Given the description of an element on the screen output the (x, y) to click on. 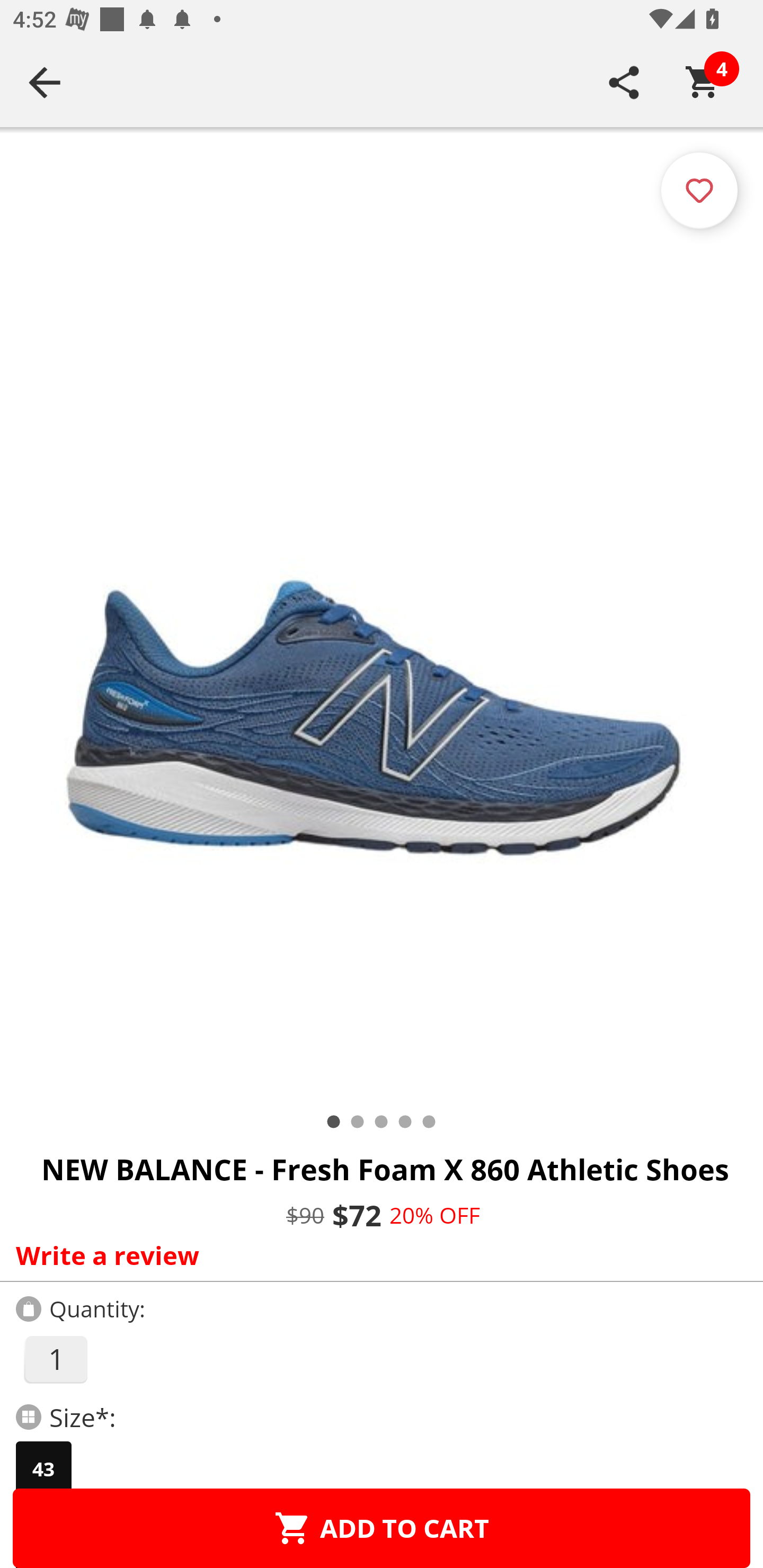
Navigate up (44, 82)
SHARE (623, 82)
Cart (703, 81)
Write a review (377, 1255)
1 (55, 1358)
43 (43, 1468)
ADD TO CART (381, 1528)
